Given the description of an element on the screen output the (x, y) to click on. 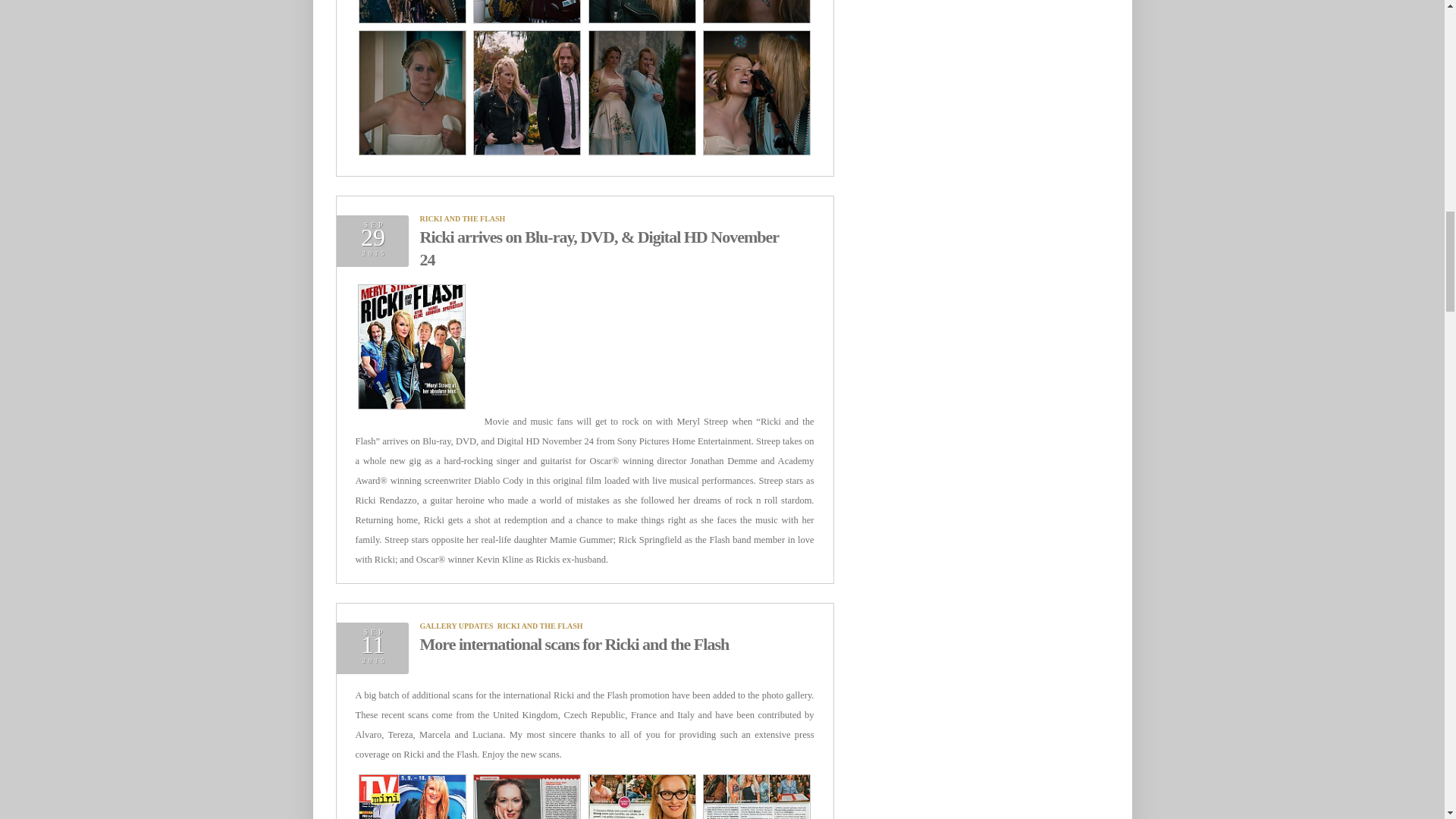
RICKI AND THE FLASH (462, 218)
More international scans for Ricki and the Flash (574, 643)
RICKI AND THE FLASH (540, 625)
GALLERY UPDATES (456, 625)
